Given the description of an element on the screen output the (x, y) to click on. 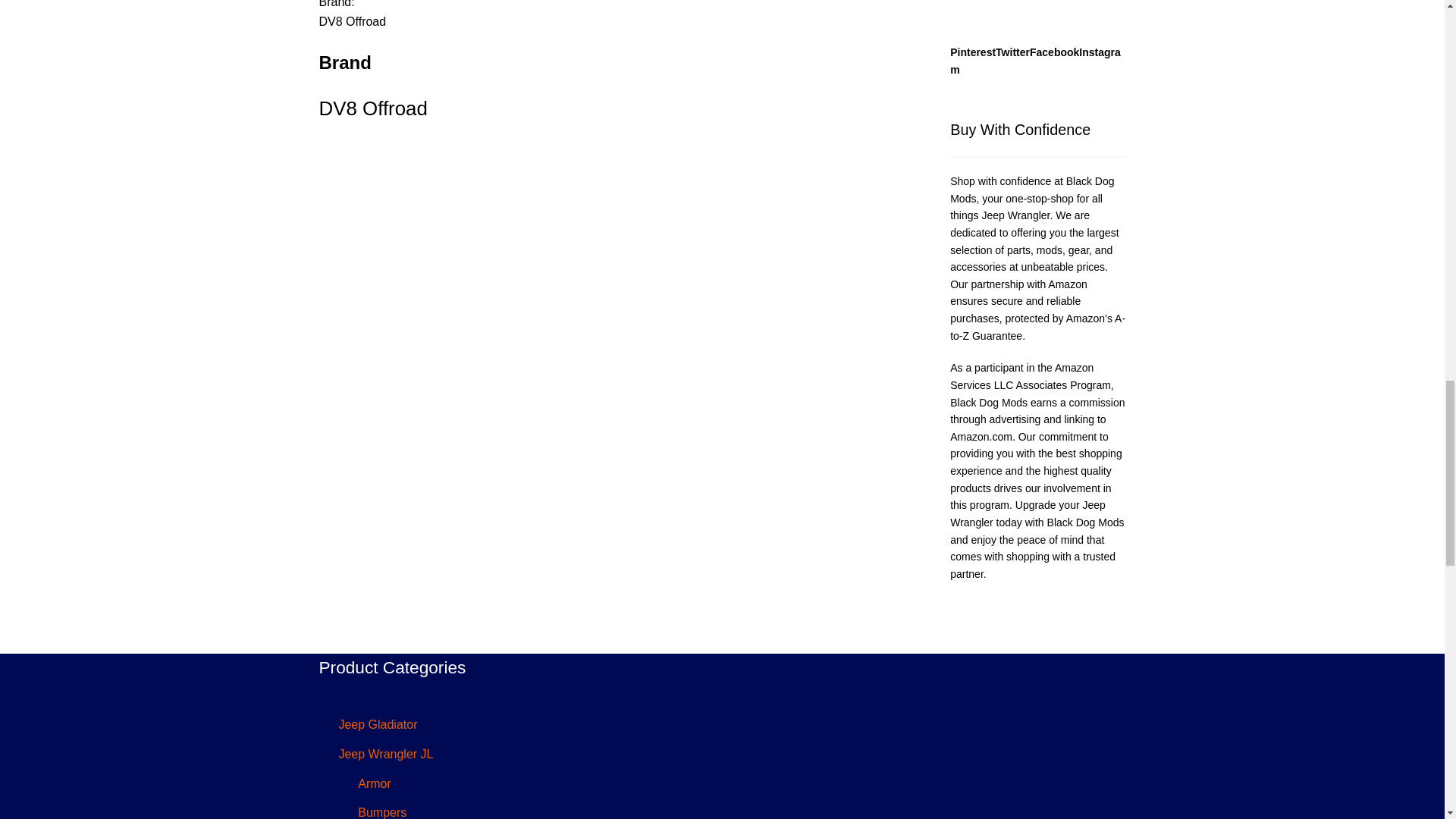
Twitter (1012, 51)
Instagram (1035, 60)
Pinterest (972, 51)
Facebook (1053, 51)
